Given the description of an element on the screen output the (x, y) to click on. 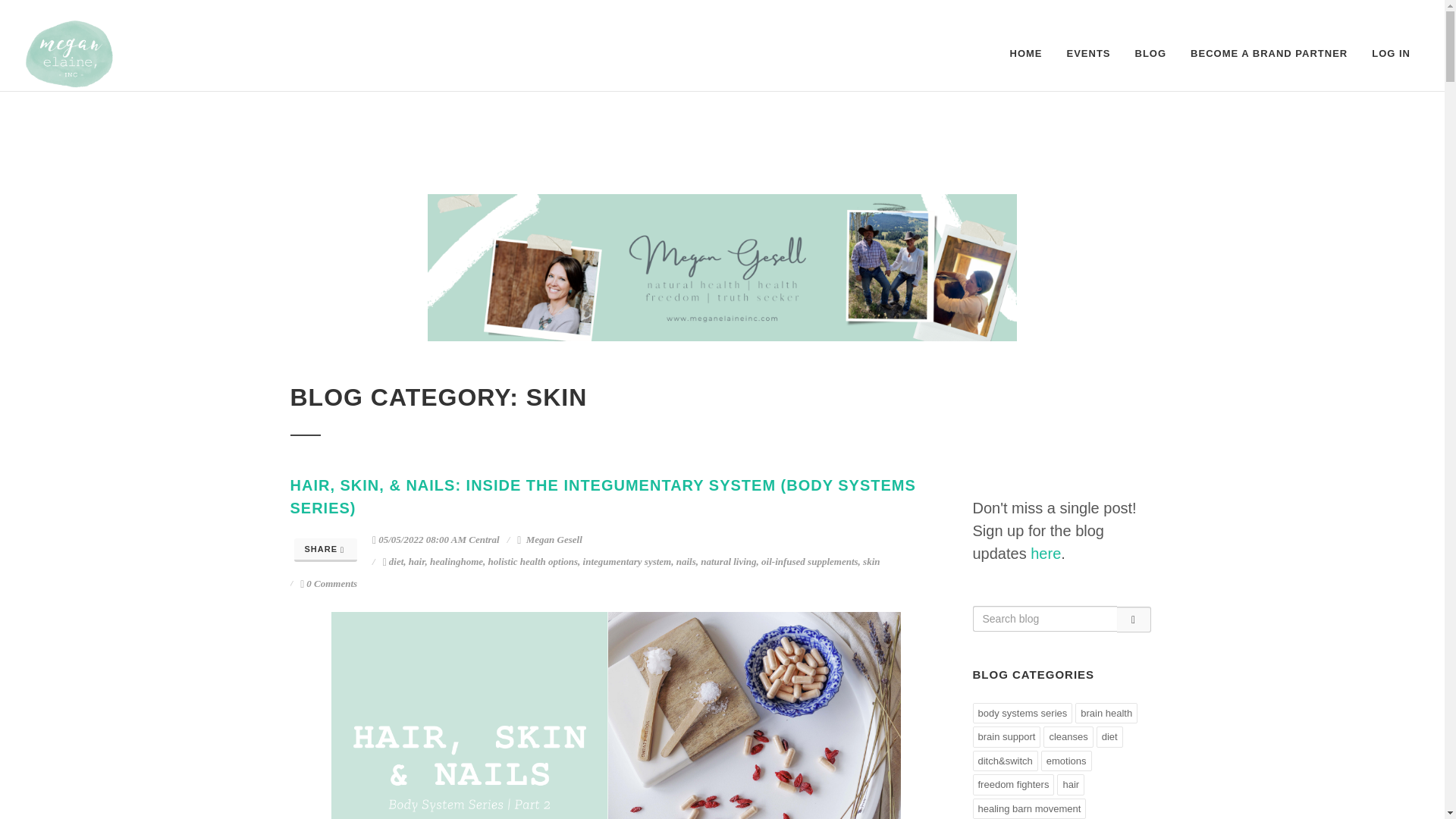
diet (396, 561)
holistic health options (532, 561)
oil-infused supplements (810, 561)
0 Comments (327, 583)
SHARE (326, 549)
nails (686, 561)
natural living (727, 561)
hair (417, 561)
healinghome (456, 561)
integumentary system (627, 561)
BECOME A BRAND PARTNER (1268, 53)
skin (871, 561)
